Given the description of an element on the screen output the (x, y) to click on. 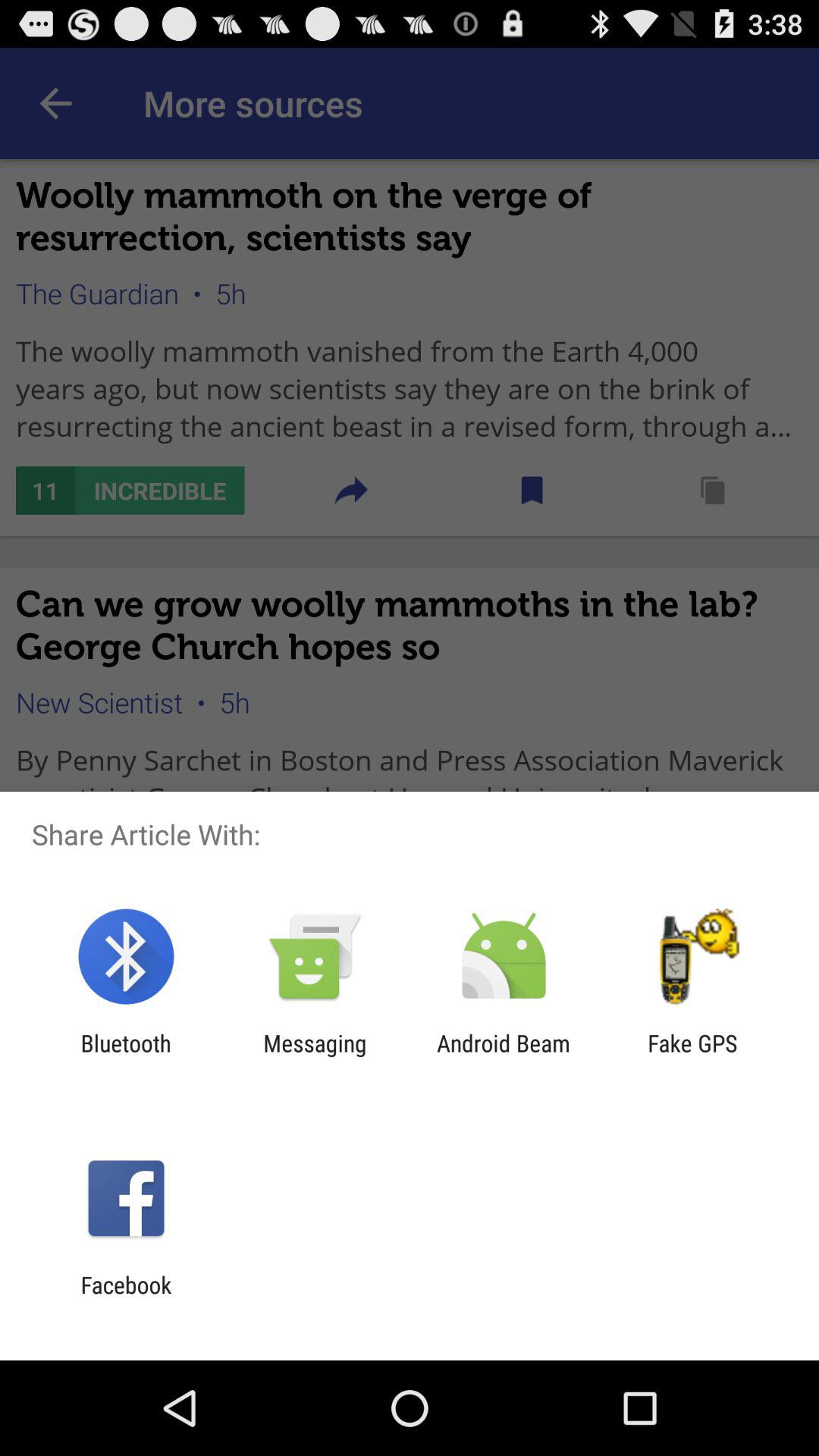
select item to the right of messaging item (503, 1056)
